Given the description of an element on the screen output the (x, y) to click on. 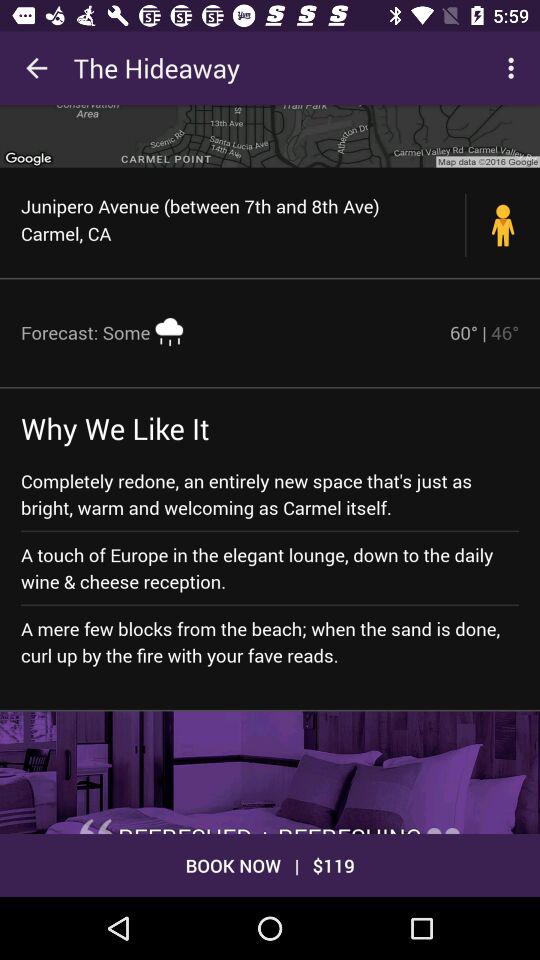
open icon next to the hideaway item (513, 67)
